Given the description of an element on the screen output the (x, y) to click on. 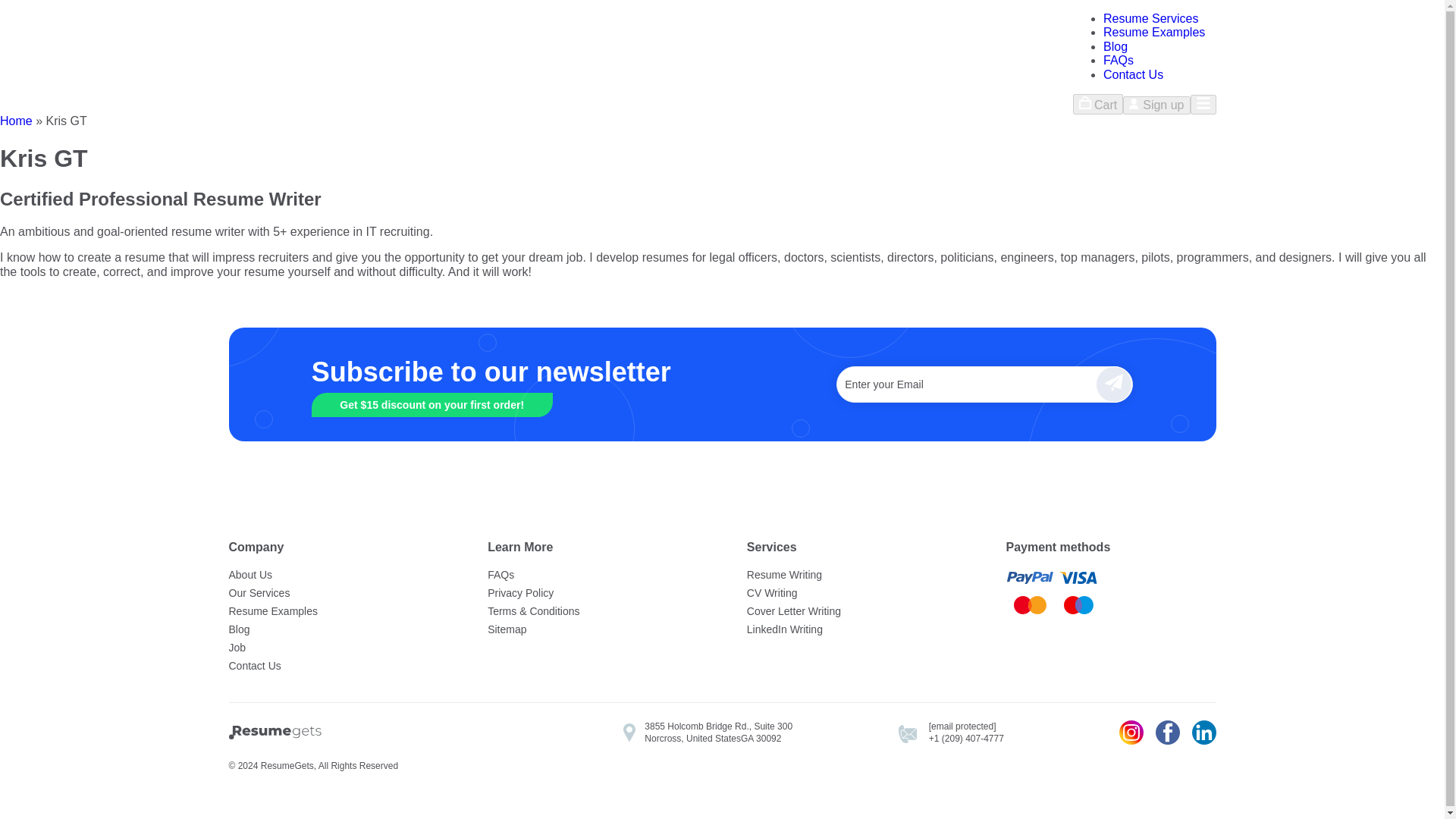
Resume Writing (851, 574)
Resume Examples (333, 610)
Cart (1097, 104)
LinkedIn Writing (851, 628)
Blog (1114, 46)
Blog (333, 628)
Sitemap (592, 628)
Contact Us (1133, 74)
About Us (333, 574)
Resume Services (1150, 18)
Home (16, 120)
Job (333, 647)
FAQs (1118, 60)
Our Services (333, 592)
Sign up (1155, 105)
